Given the description of an element on the screen output the (x, y) to click on. 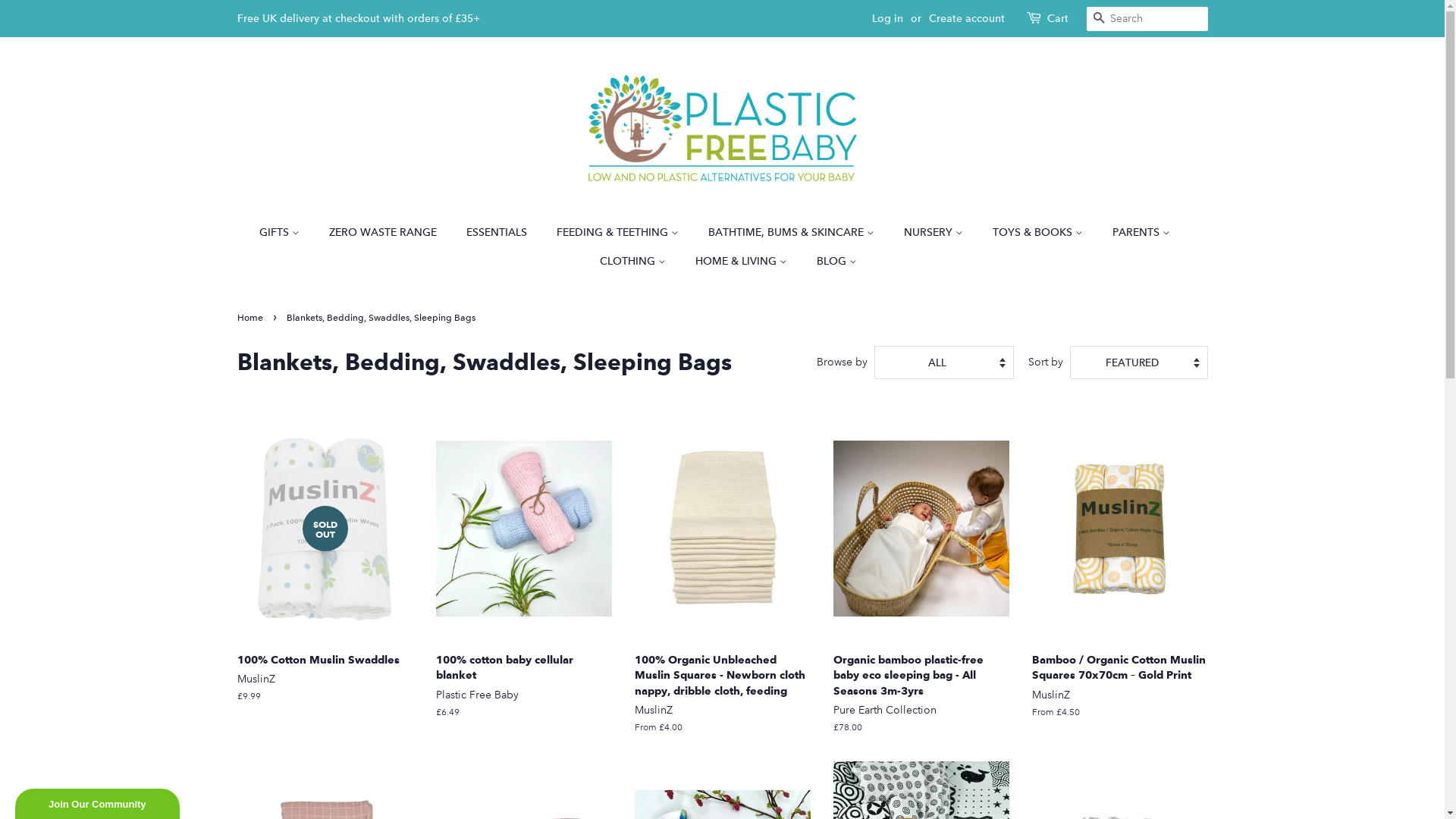
BLOG Element type: text (830, 261)
Log in Element type: text (887, 18)
BATHTIME, BUMS & SKINCARE Element type: text (792, 232)
SEARCH Element type: text (1097, 18)
NURSERY Element type: text (935, 232)
PARENTS Element type: text (1143, 232)
ESSENTIALS Element type: text (498, 232)
FEEDING & TEETHING Element type: text (619, 232)
HOME & LIVING Element type: text (743, 261)
Cart Element type: text (1056, 18)
GIFTS Element type: text (286, 232)
Home Element type: text (251, 317)
ZERO WASTE RANGE Element type: text (384, 232)
Create account Element type: text (966, 18)
TOYS & BOOKS Element type: text (1039, 232)
CLOTHING Element type: text (634, 261)
